Given the description of an element on the screen output the (x, y) to click on. 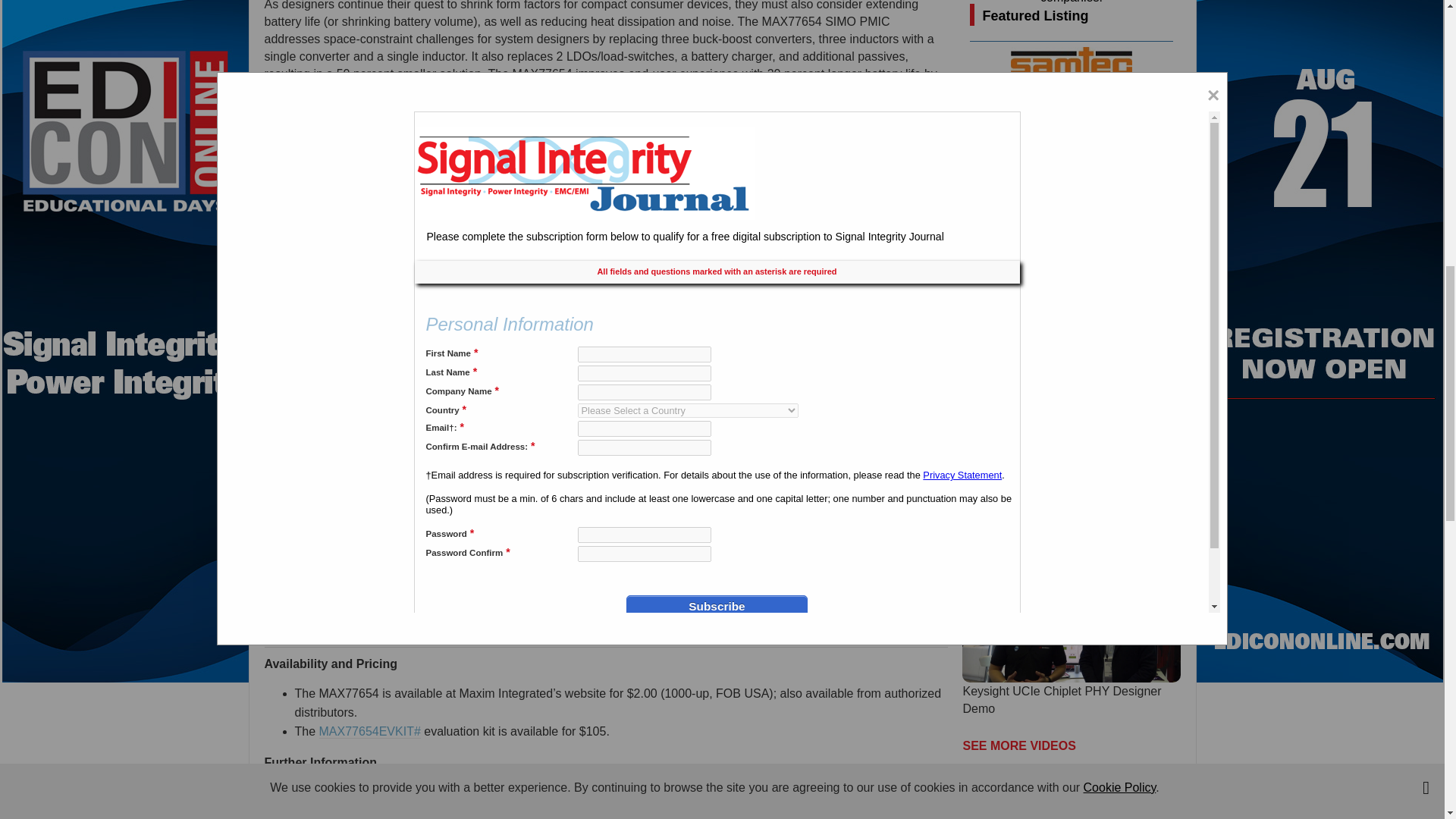
Waves 600x400 2-27-23.jpg (1010, 425)
Samtec 7-17-24.jpg (1025, 817)
Yole-6-21-24.jpg (1010, 330)
UEC 7-9-24.jpg (1010, 234)
